Given the description of an element on the screen output the (x, y) to click on. 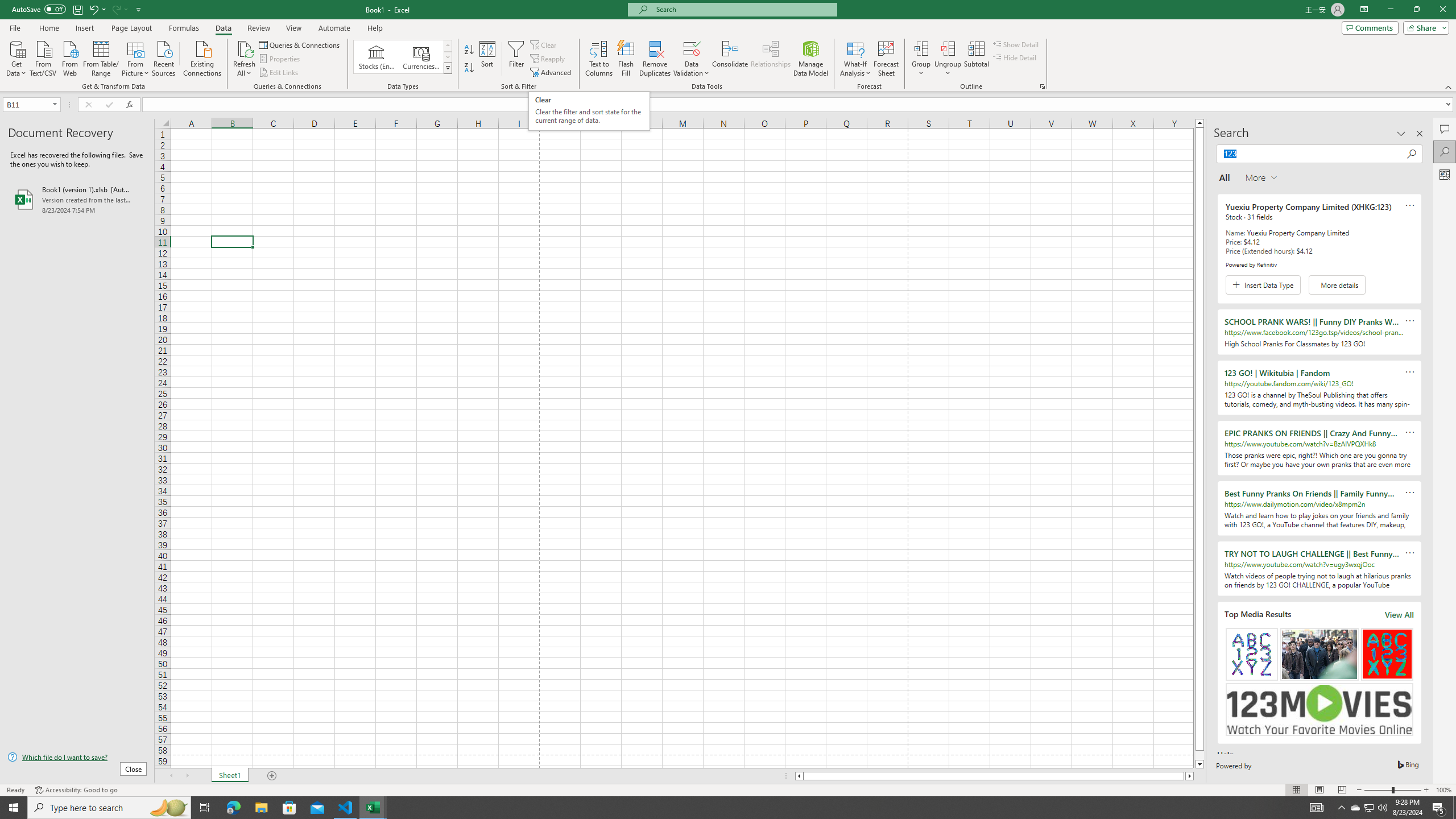
Get Data (16, 57)
Subtotal (976, 58)
Filter (515, 58)
What-If Analysis (855, 58)
